Given the description of an element on the screen output the (x, y) to click on. 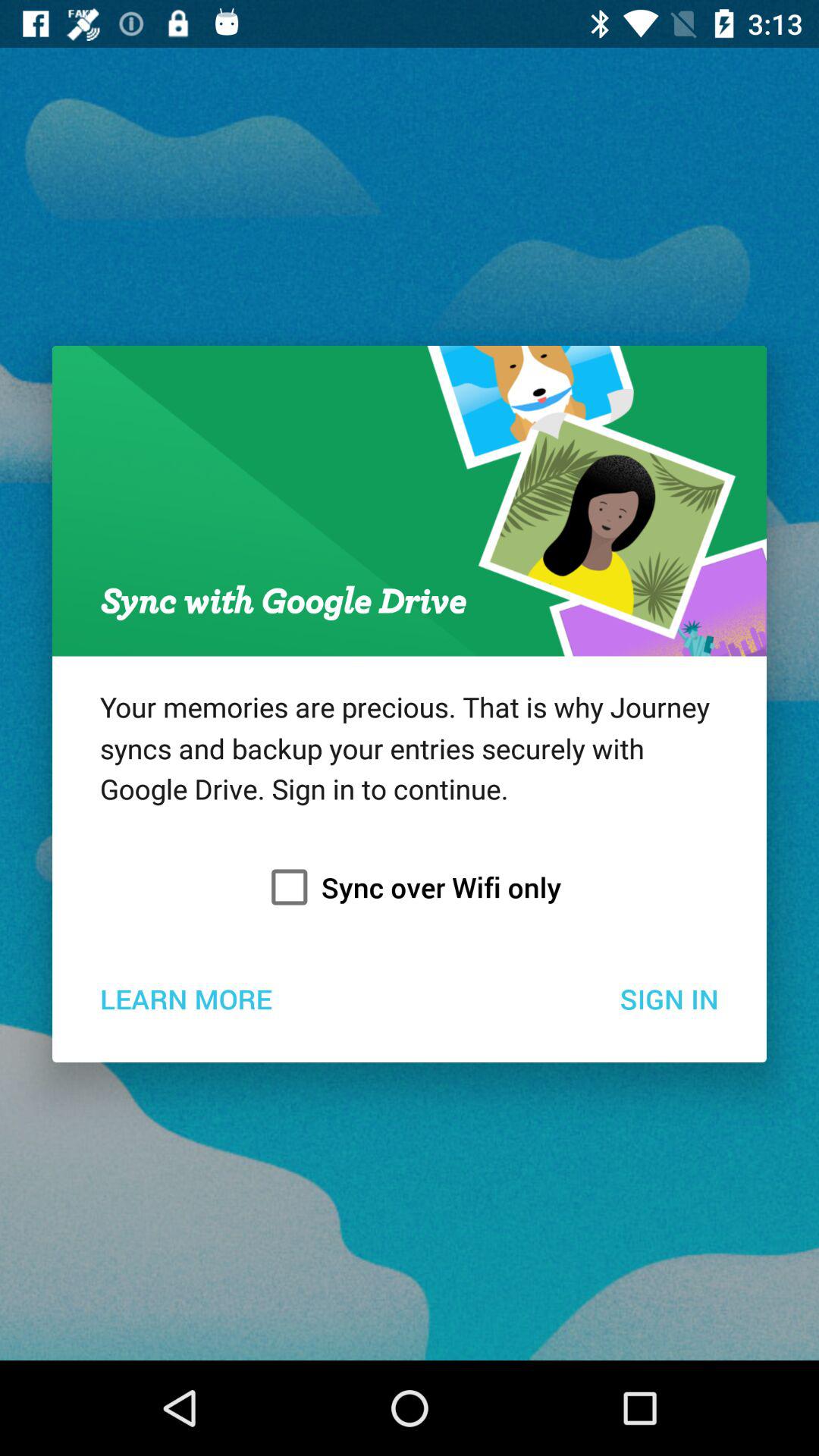
flip to the learn more (185, 998)
